Given the description of an element on the screen output the (x, y) to click on. 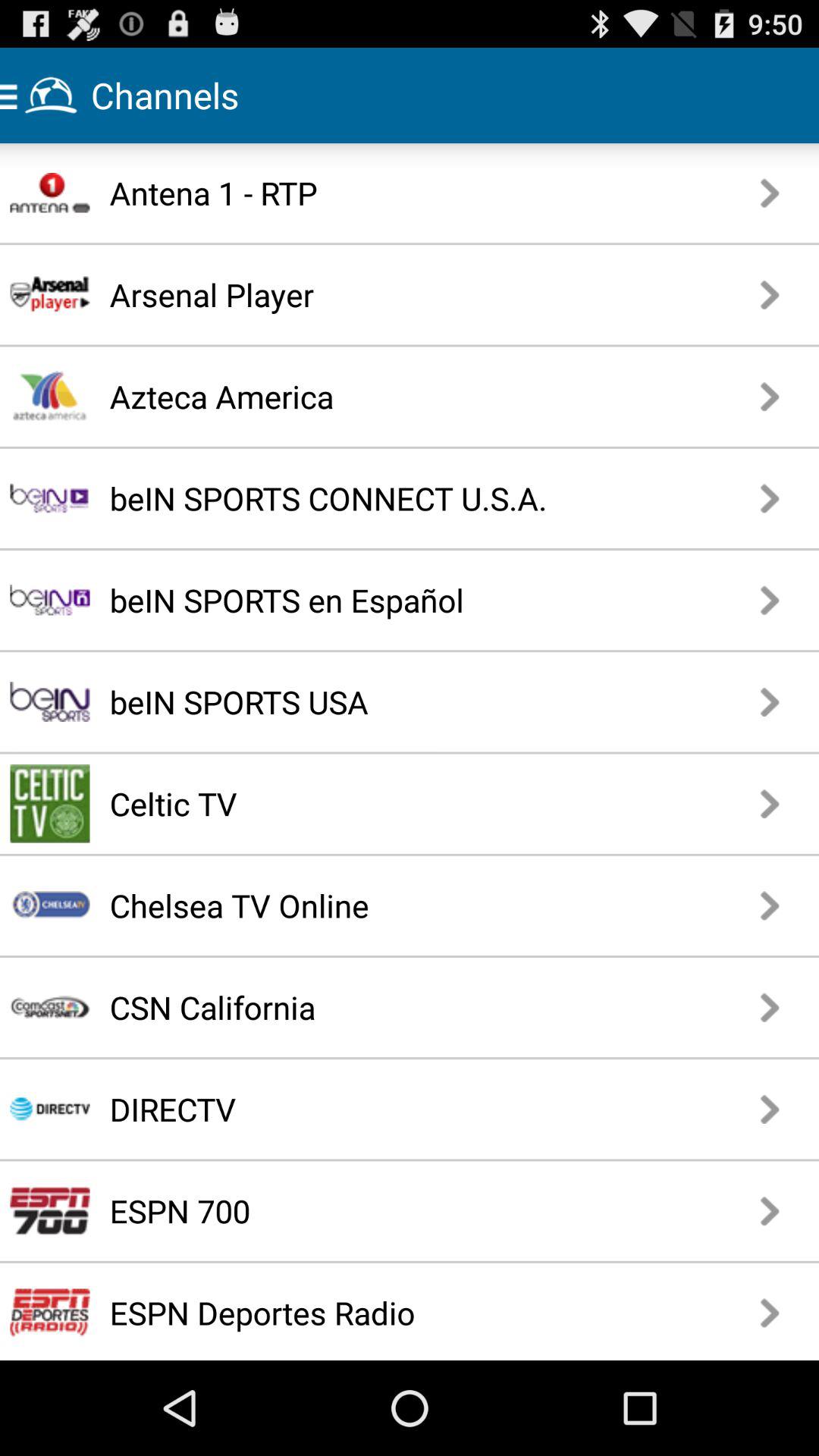
jump until the antena 1 - rtp app (367, 192)
